Given the description of an element on the screen output the (x, y) to click on. 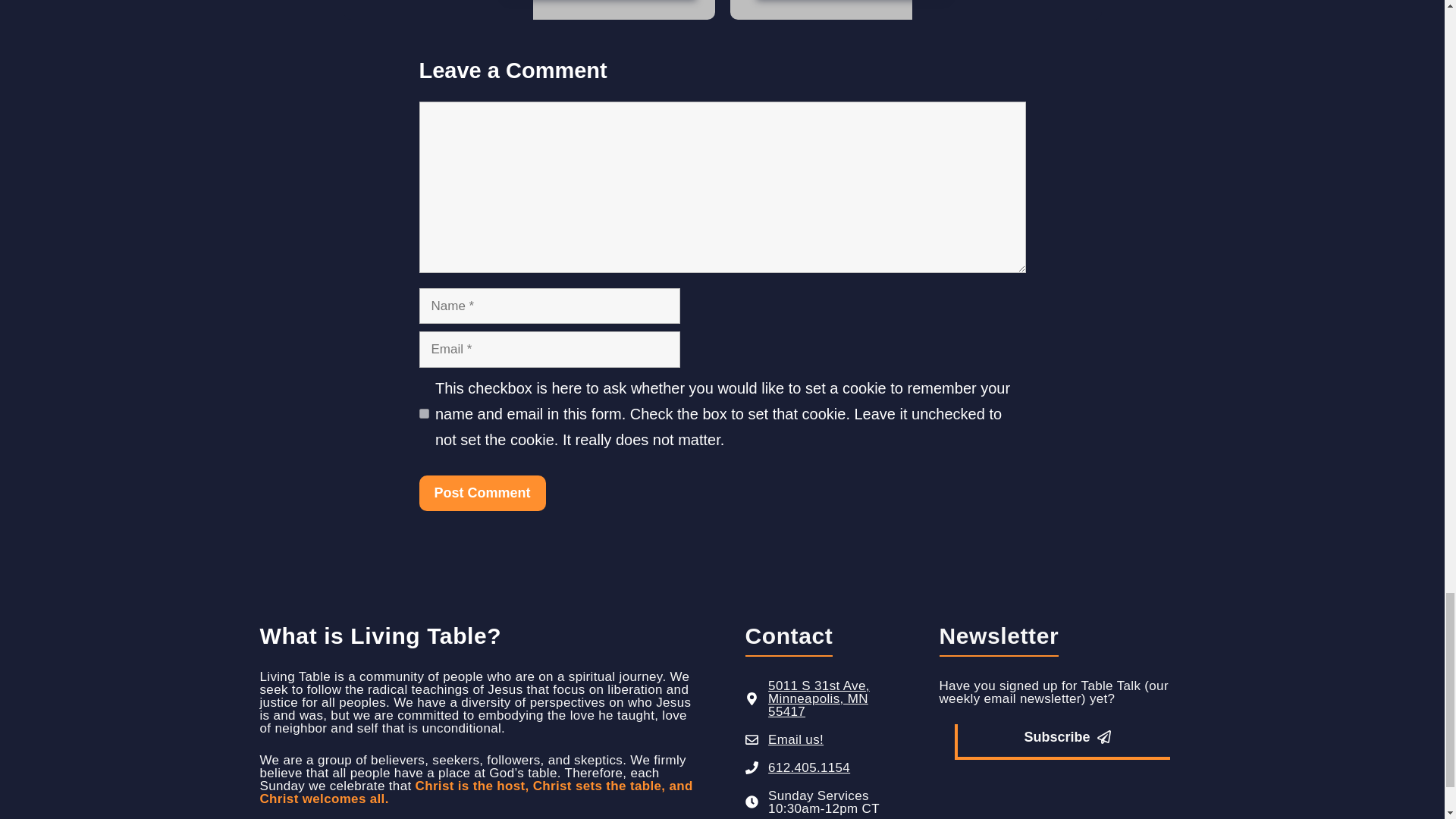
yes (423, 413)
Post Comment (481, 493)
